Given the description of an element on the screen output the (x, y) to click on. 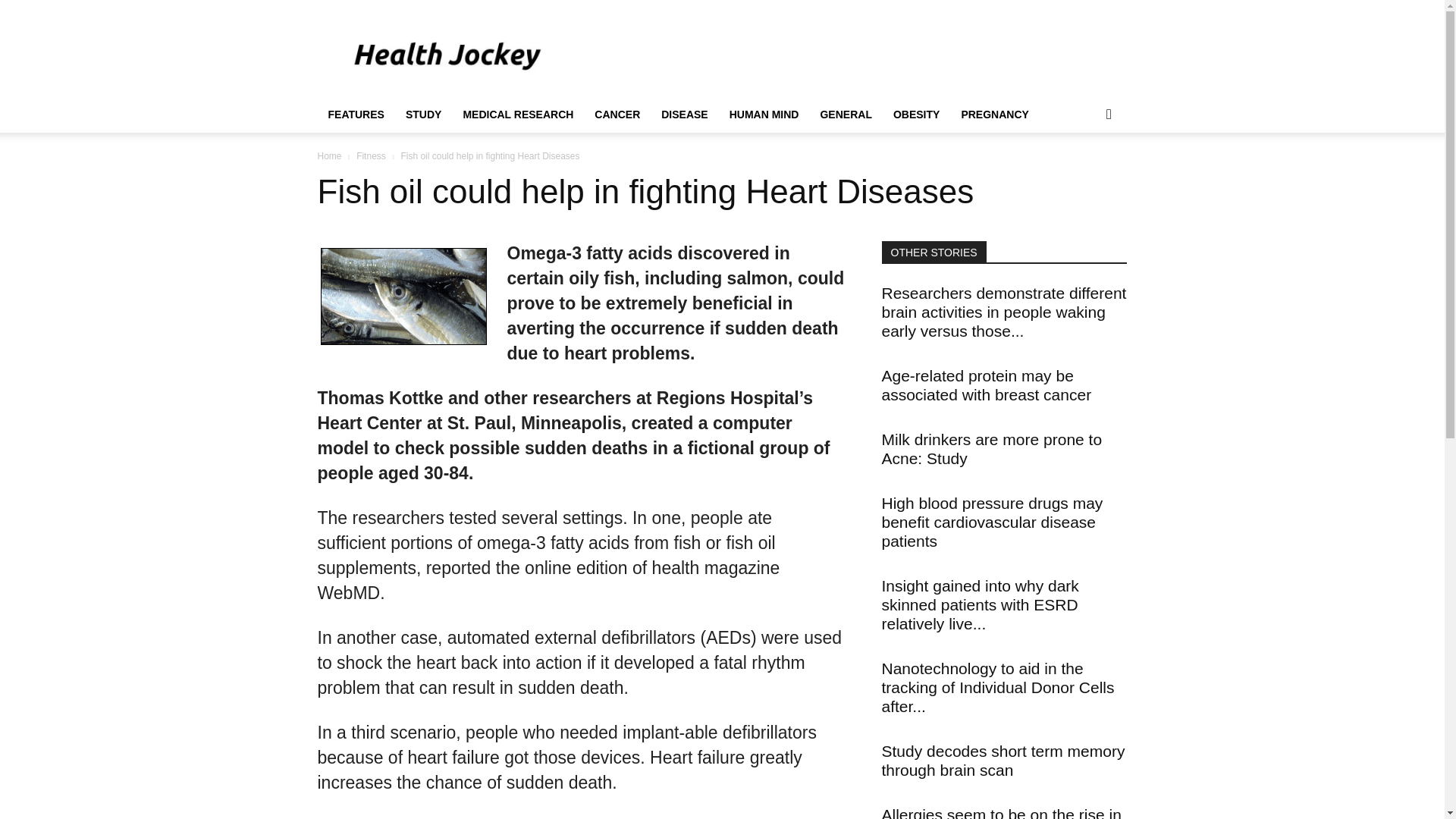
STUDY (422, 114)
CANCER (616, 114)
Home (328, 155)
Milk drinkers are more prone to Acne: Study (991, 448)
HUMAN MIND (764, 114)
Age-related protein may be associated with breast cancer (985, 384)
OBESITY (916, 114)
Fitness (370, 155)
Study decodes short term memory through brain scan (1002, 760)
